Given the description of an element on the screen output the (x, y) to click on. 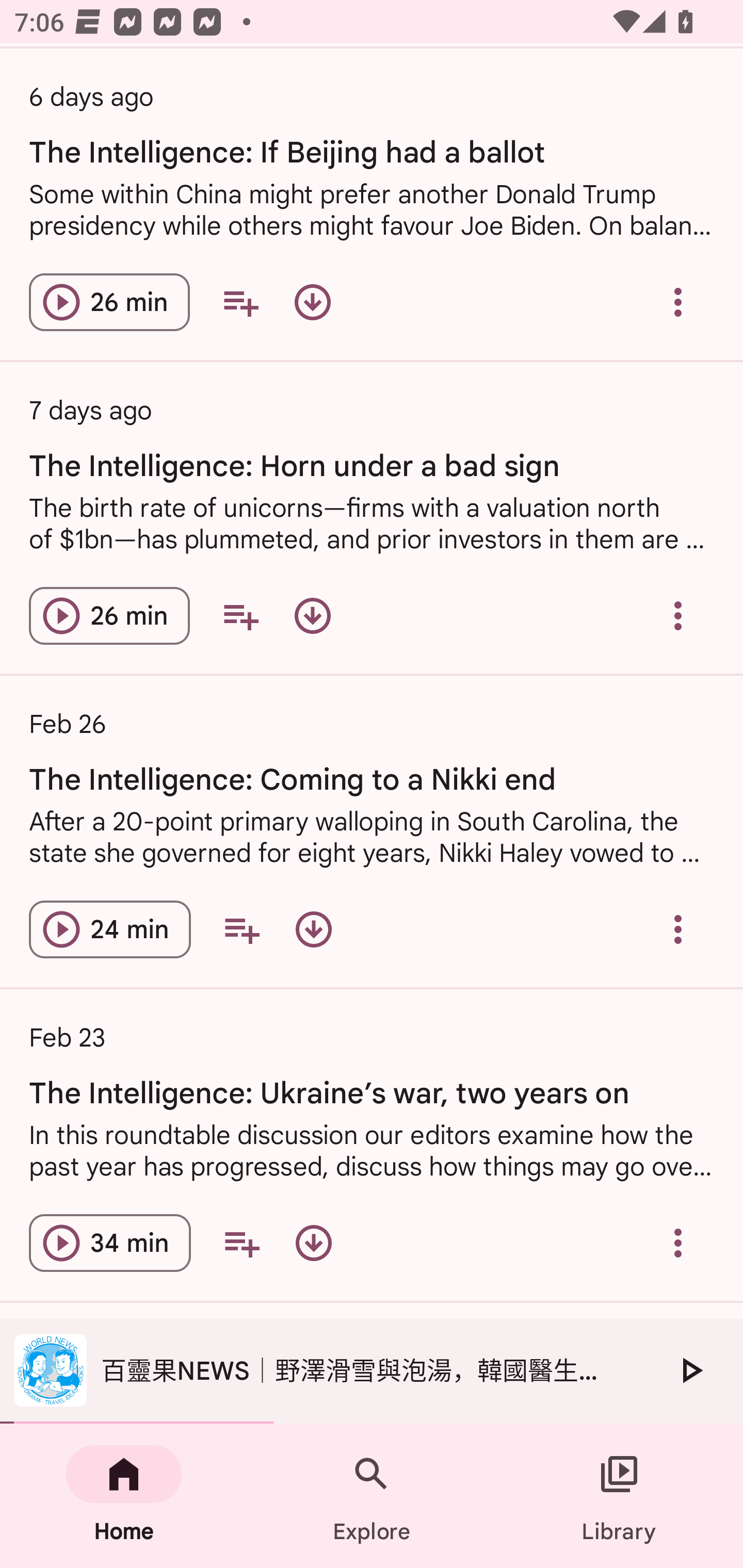
Add to your queue (240, 301)
Download episode (312, 301)
Overflow menu (677, 301)
Add to your queue (240, 615)
Download episode (312, 615)
Overflow menu (677, 615)
Add to your queue (241, 928)
Download episode (313, 928)
Overflow menu (677, 928)
Add to your queue (241, 1242)
Download episode (313, 1242)
Overflow menu (677, 1242)
Play (690, 1370)
Explore (371, 1495)
Library (619, 1495)
